Given the description of an element on the screen output the (x, y) to click on. 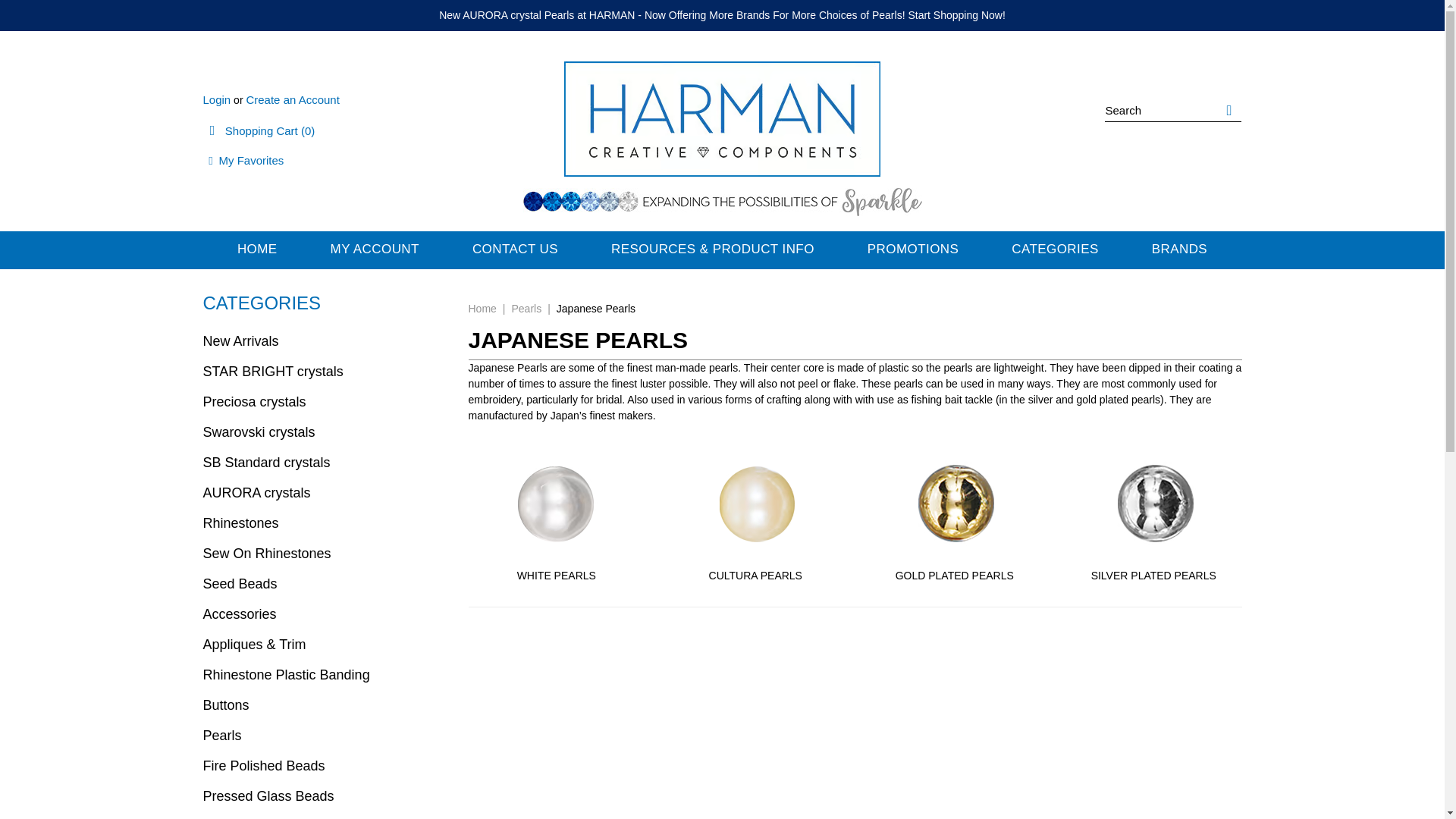
Login (217, 99)
Rhinestone Plastic Banding (324, 675)
Pressed Glass Beads (324, 796)
Sew On Rhinestones (324, 553)
Rhinestones (324, 522)
STAR BRIGHT crystals (324, 371)
Accessories (324, 613)
BRANDS (1179, 249)
Seed Beads (324, 583)
Create an Account (292, 99)
